Given the description of an element on the screen output the (x, y) to click on. 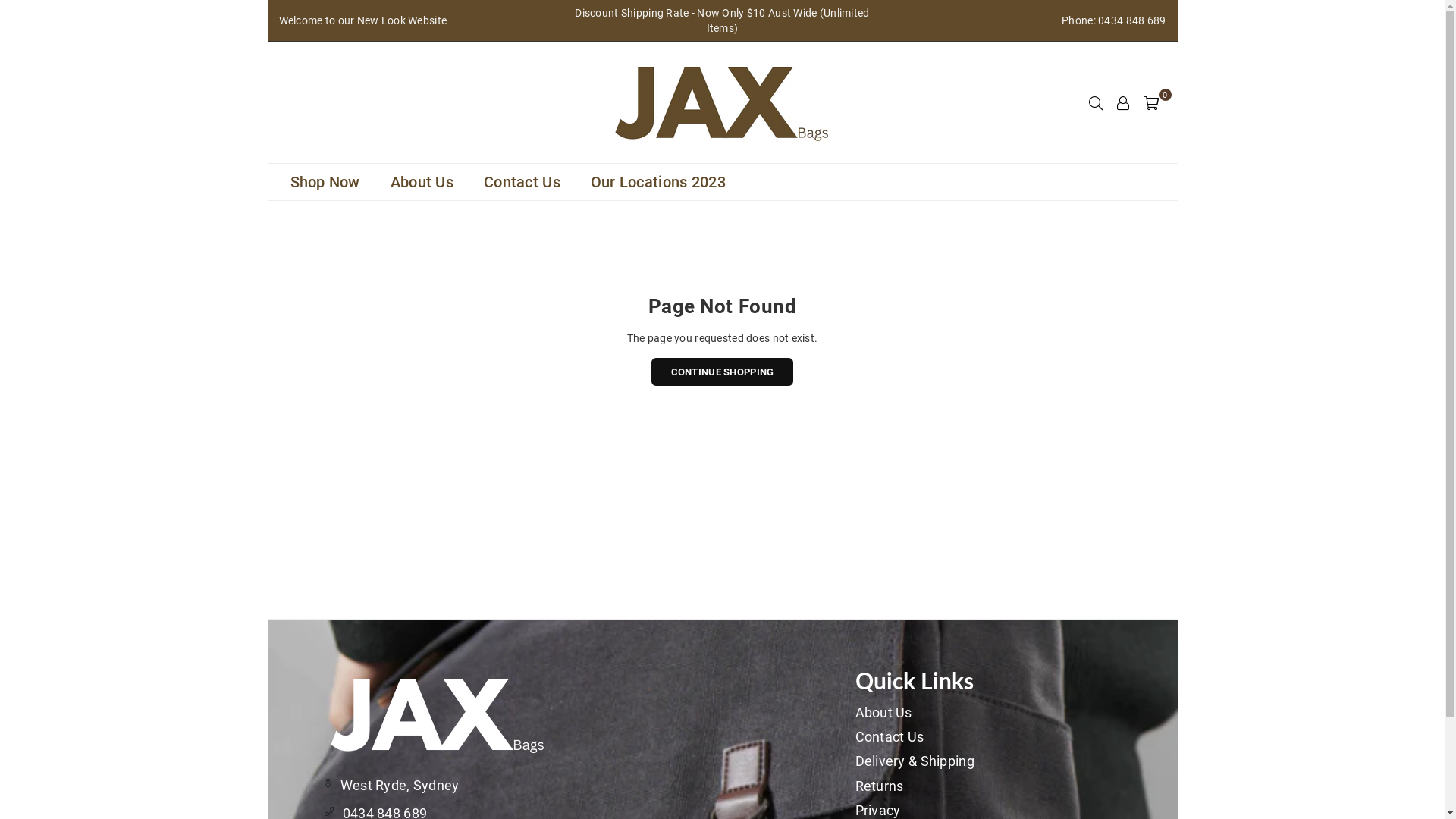
Shop Now Element type: text (325, 181)
Delivery & Shipping Element type: text (914, 760)
About Us Element type: text (421, 181)
Our Locations 2023 Element type: text (658, 181)
Privacy Element type: text (877, 810)
Returns Element type: text (879, 785)
About Us Element type: text (883, 712)
0 Element type: text (1150, 102)
CONTINUE SHOPPING Element type: text (722, 371)
Contact Us Element type: text (889, 736)
Search Element type: hover (1095, 102)
JAX BAGS Element type: text (722, 101)
Settings Element type: hover (1122, 102)
Contact Us Element type: text (521, 181)
